Given the description of an element on the screen output the (x, y) to click on. 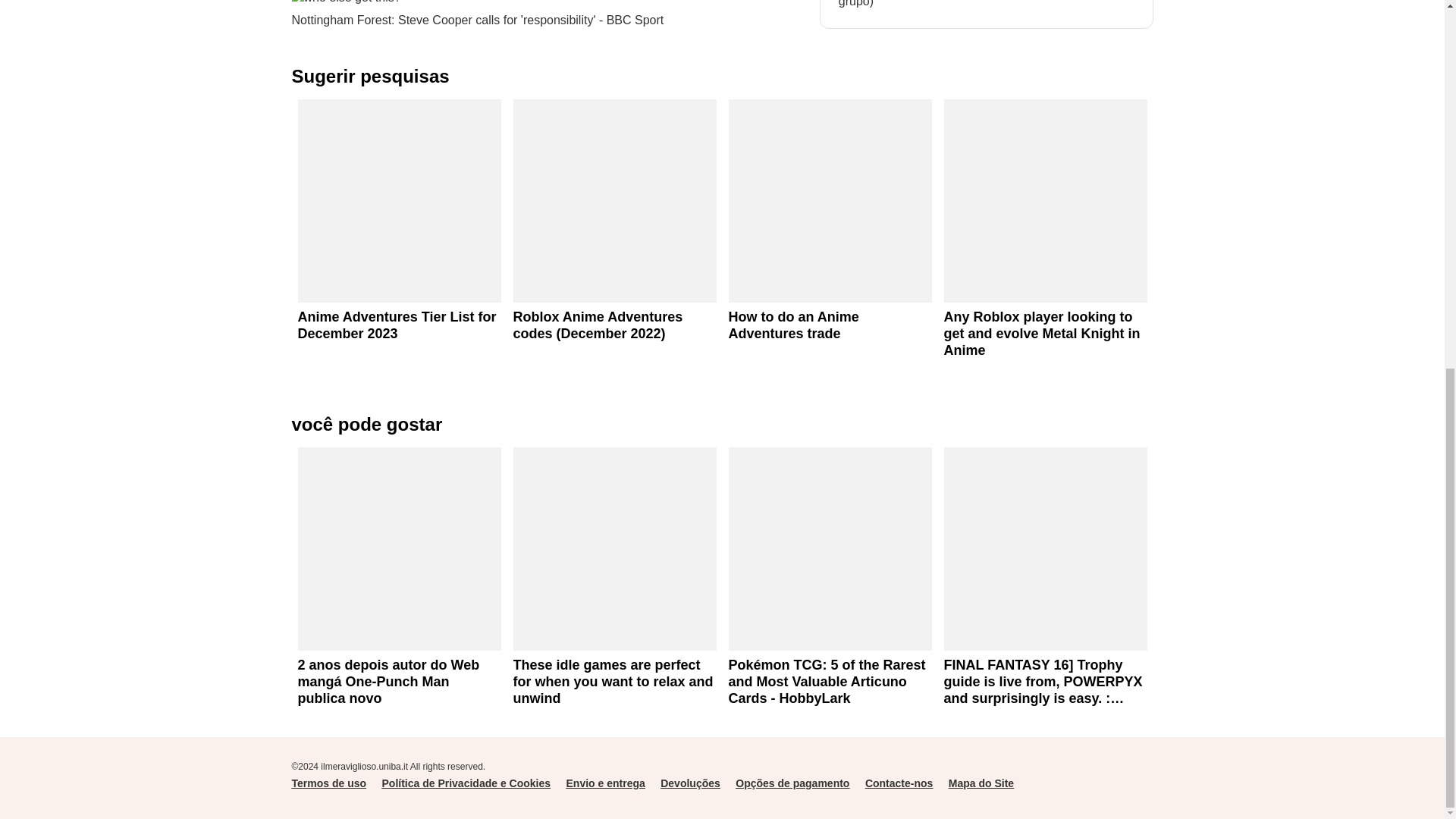
Envio e entrega (605, 782)
Mapa do Site (981, 782)
Termos de uso (328, 782)
Contacte-nos (898, 782)
